Given the description of an element on the screen output the (x, y) to click on. 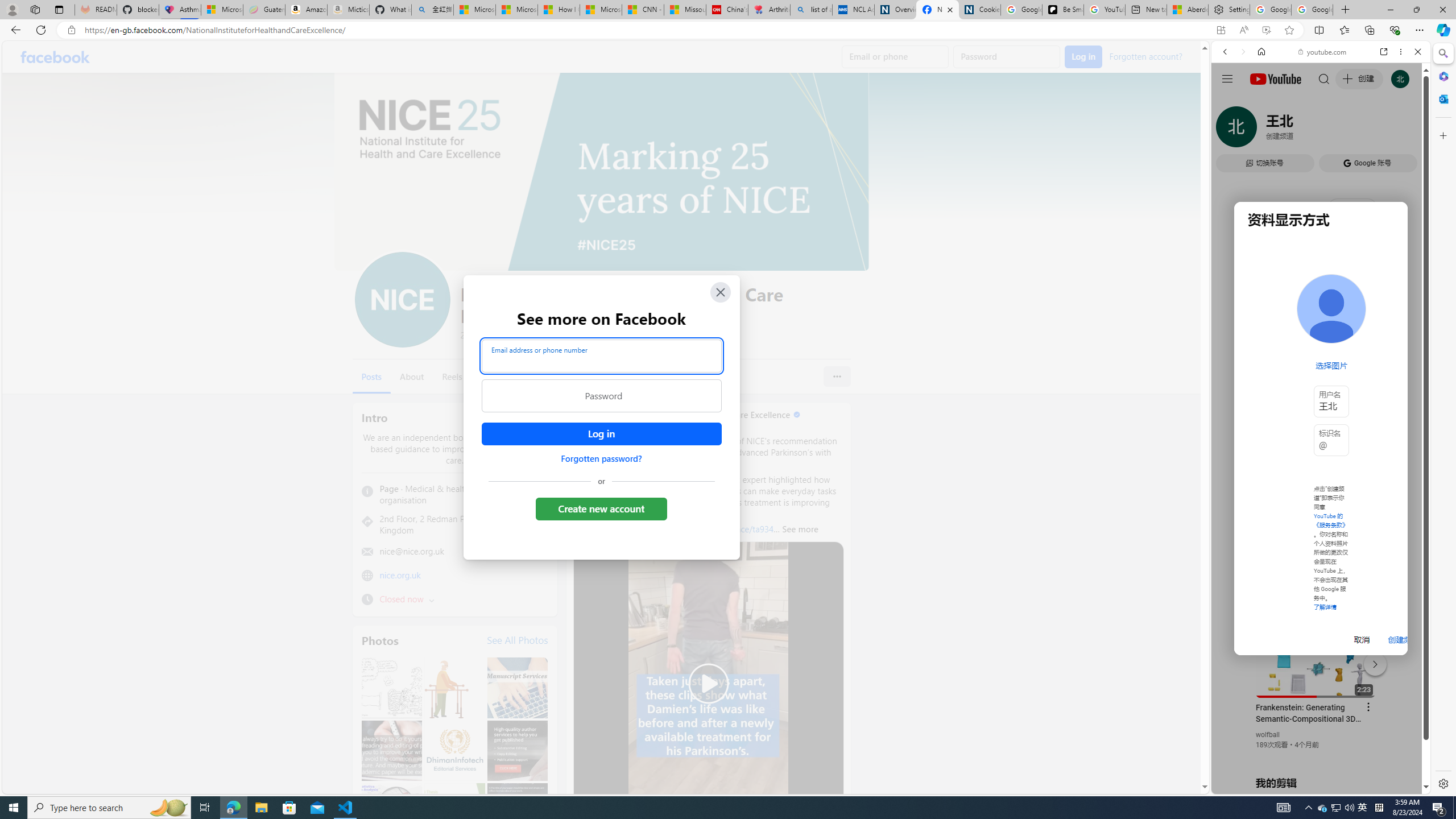
VIDEOS (1300, 130)
Web scope (1230, 102)
Search the web (1326, 78)
NCL Adult Asthma Inhaler Choice Guideline (853, 9)
